Given the description of an element on the screen output the (x, y) to click on. 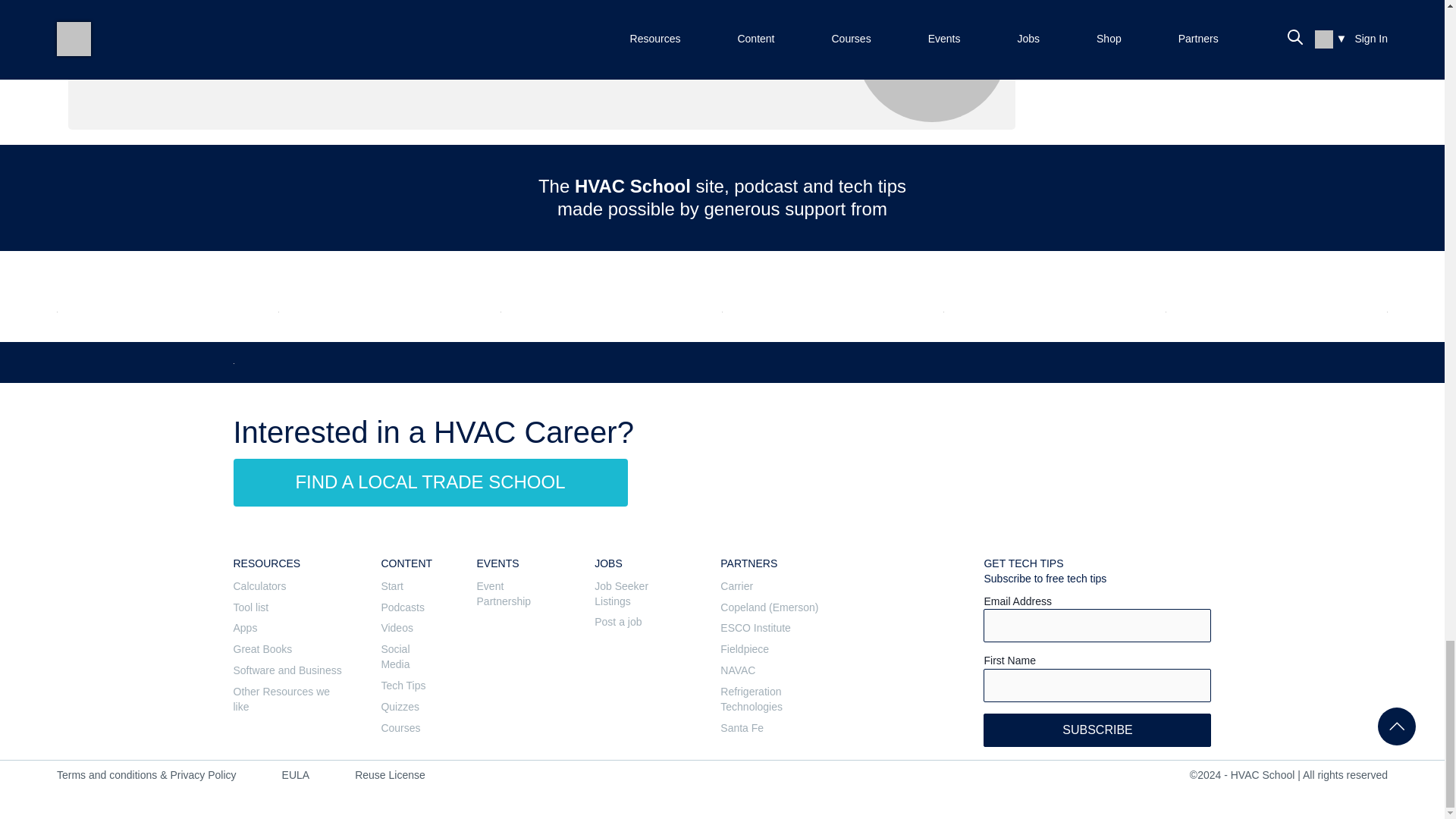
Subscribe (1097, 729)
